Given the description of an element on the screen output the (x, y) to click on. 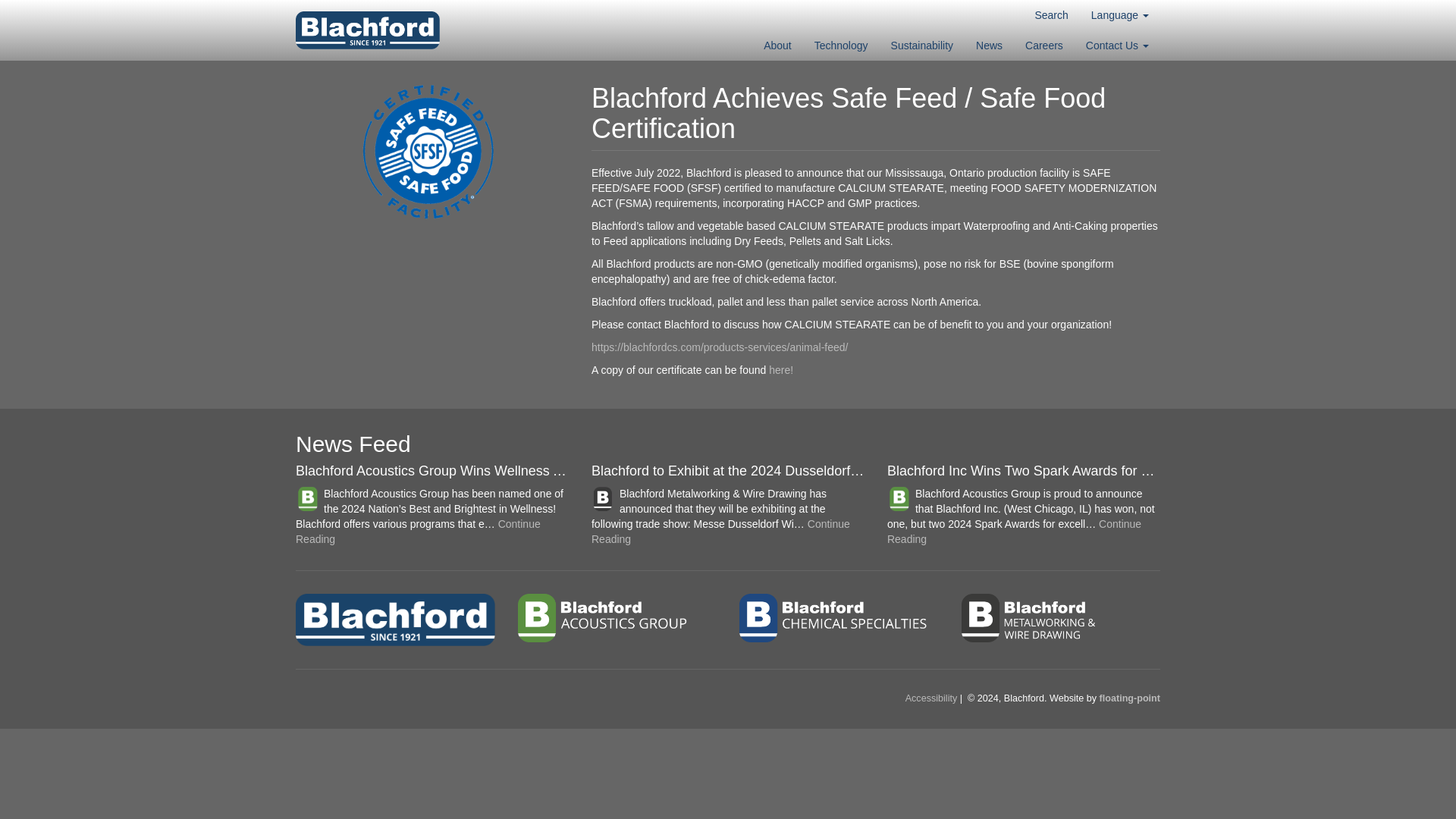
here! (780, 369)
floating-point (1129, 697)
Sustainability (922, 45)
Contact Us (1117, 45)
Technology (841, 45)
Careers (1043, 45)
About (777, 45)
Language (1120, 15)
Careers (1043, 45)
Search (1050, 15)
News (988, 45)
Accessibility (931, 697)
Contact Us (1117, 45)
